Given the description of an element on the screen output the (x, y) to click on. 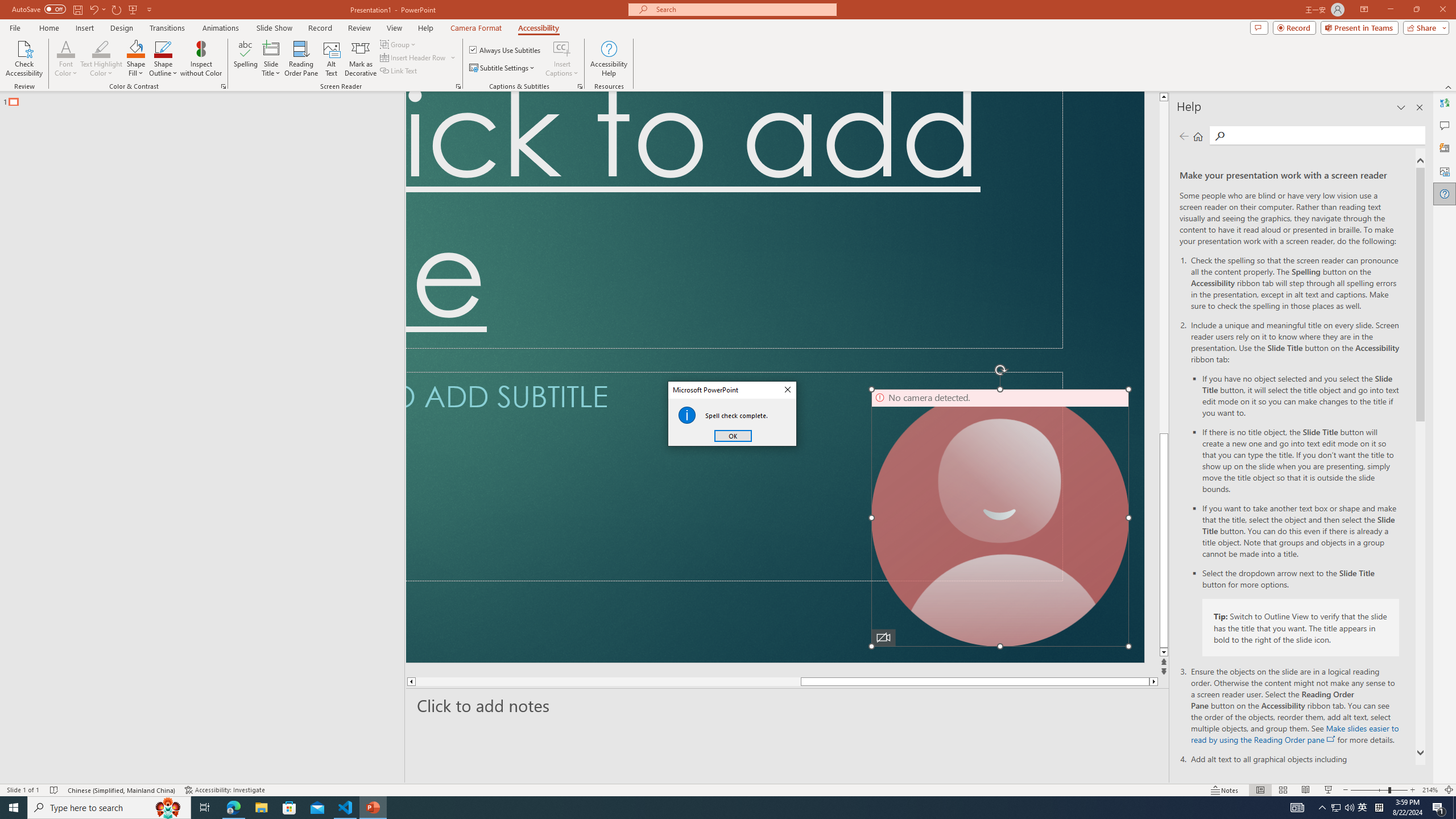
openinnewwindow (1330, 739)
Accessibility Help (608, 58)
Mark as Decorative (360, 58)
Zoom 214% (1430, 790)
